Given the description of an element on the screen output the (x, y) to click on. 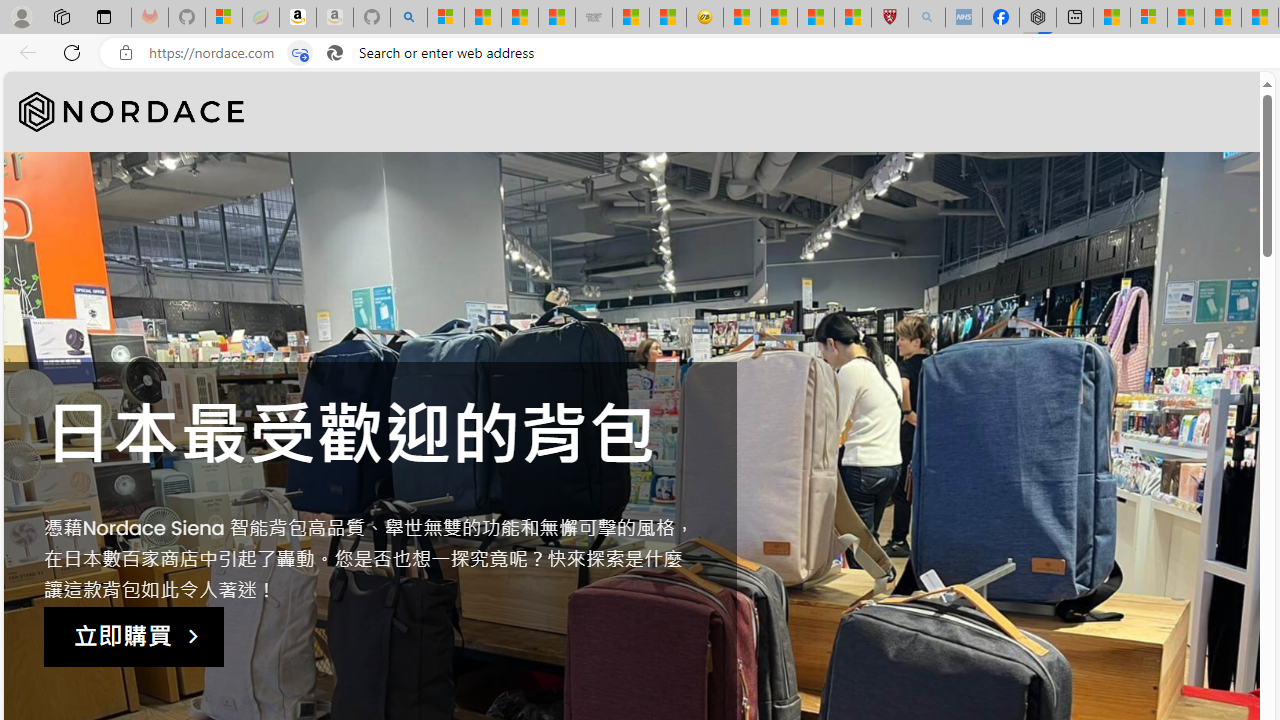
Robert H. Shmerling, MD - Harvard Health (889, 17)
Microsoft-Report a Concern to Bing (223, 17)
Nordace - Nordace Siena Is Not An Ordinary Backpack (1037, 17)
New tab (1075, 17)
Back (24, 52)
Search icon (334, 53)
list of asthma inhalers uk - Search - Sleeping (926, 17)
Workspaces (61, 16)
Tab actions menu (104, 16)
